Given the description of an element on the screen output the (x, y) to click on. 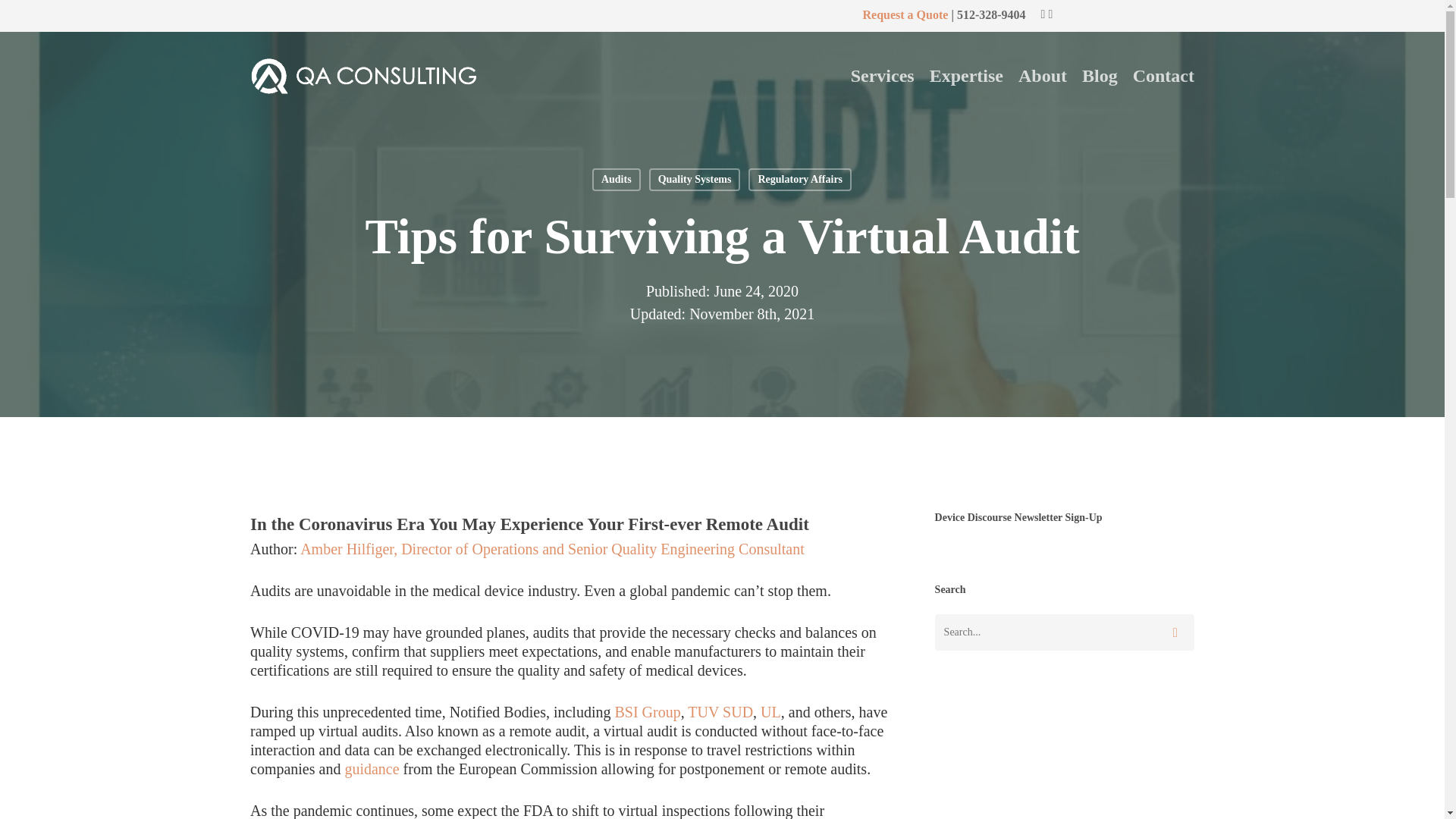
Request a Quote (904, 14)
Search for: (1063, 632)
512-328-9404 (991, 14)
About (1042, 75)
Audits (616, 179)
TUV SUD (719, 711)
Regulatory Affairs (799, 179)
Quality Systems (695, 179)
Blog (1099, 75)
Services (882, 75)
Contact (1162, 75)
BSI Group (646, 711)
Expertise (966, 75)
